Given the description of an element on the screen output the (x, y) to click on. 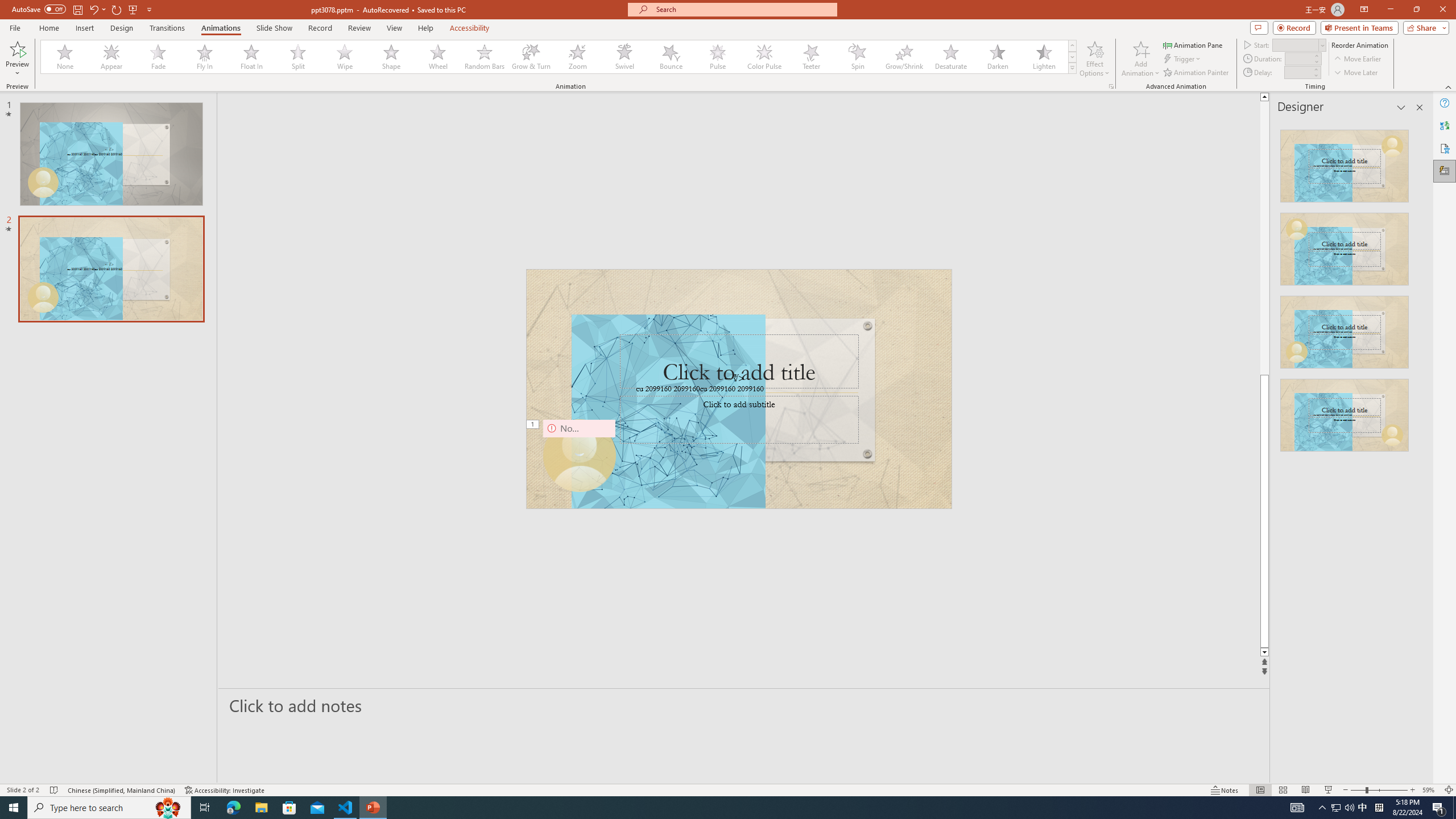
Add Animation (1141, 58)
Float In (251, 56)
Shape (391, 56)
Wipe (344, 56)
Split (298, 56)
